Given the description of an element on the screen output the (x, y) to click on. 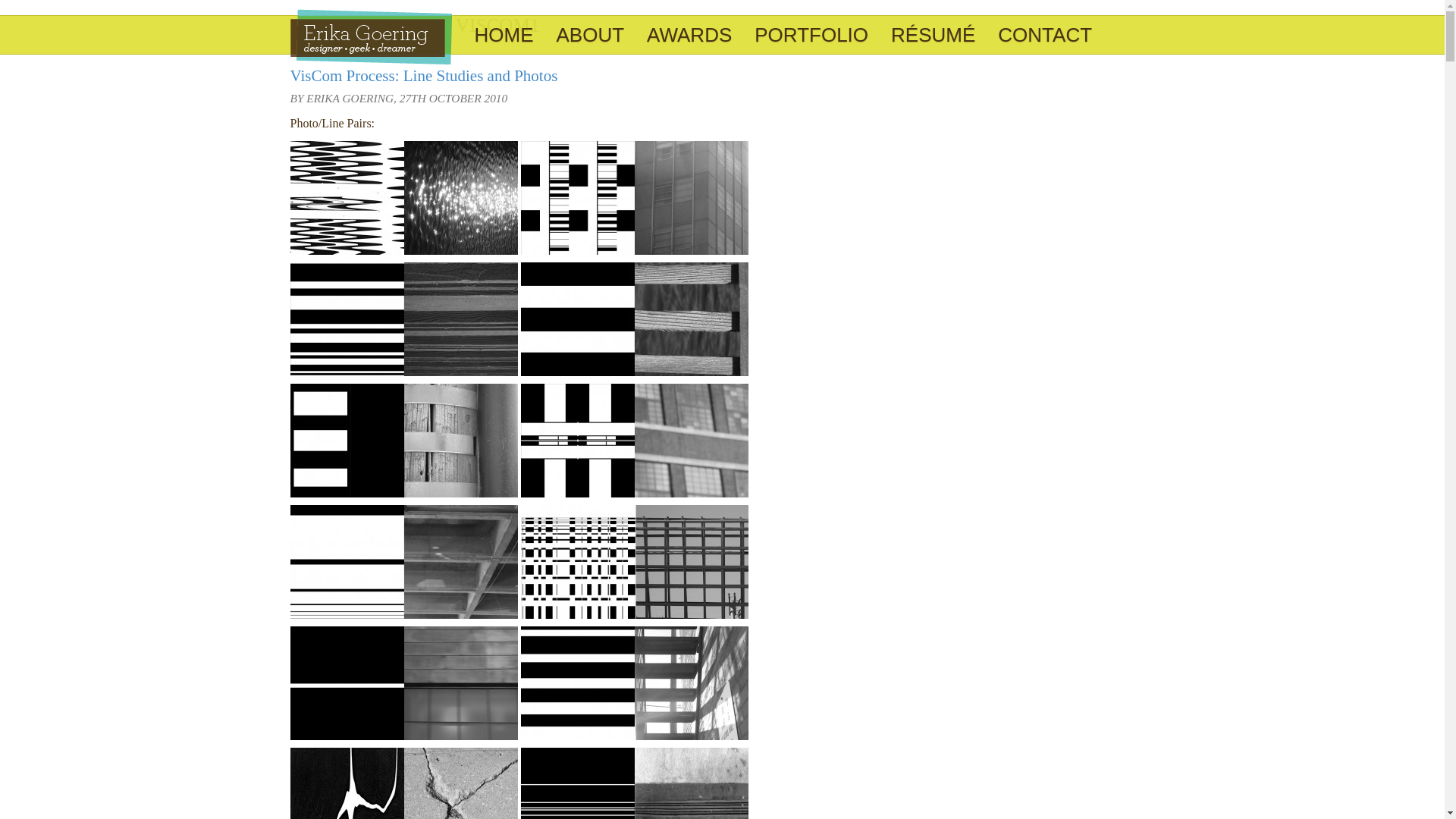
HOME (503, 34)
ABOUT (589, 34)
PORTFOLIO (810, 34)
brookside (633, 562)
blue-building (633, 197)
AWARDS (688, 34)
CONTACT (1045, 34)
kcstar (402, 683)
bridge2 (633, 318)
VisCom Process: Line Studies and Photos (423, 75)
crack (402, 783)
stairs (633, 683)
bridge (402, 318)
downtown-brown (633, 440)
post (402, 440)
